Given the description of an element on the screen output the (x, y) to click on. 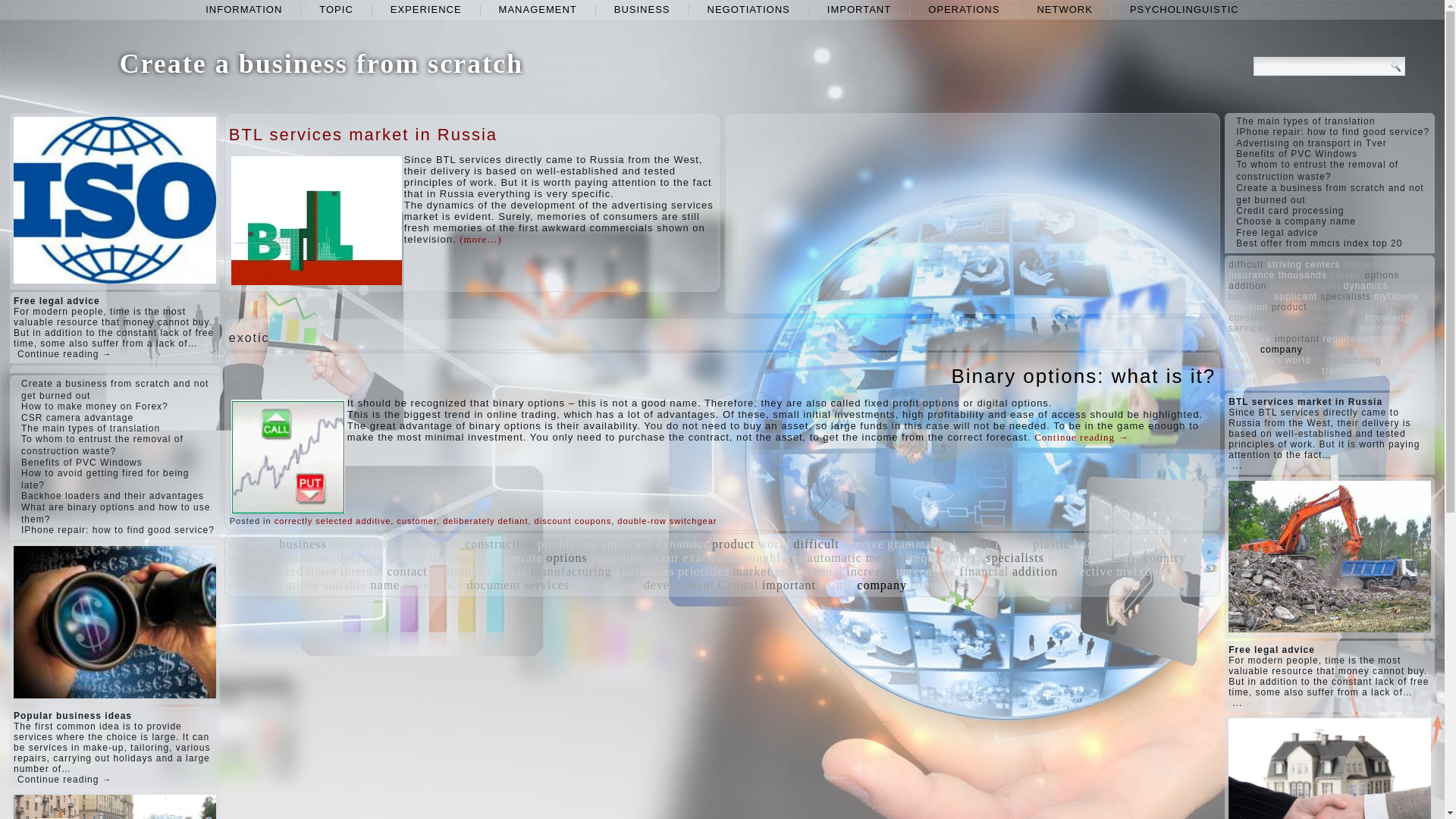
discount coupons (572, 520)
EXPERIENCE (426, 9)
How to make money on Forex? (94, 406)
deliberately defiant (484, 520)
What are binary options and how to use them? (115, 513)
BTL services market in Russia (362, 134)
INFORMATION (243, 9)
Create a business from scratch (320, 63)
information (243, 9)
psycholinguistic (1184, 9)
OPERATIONS (963, 9)
customer (416, 520)
experience (426, 9)
The main types of translation (90, 428)
PSYCHOLINGUISTIC (1184, 9)
